Given the description of an element on the screen output the (x, y) to click on. 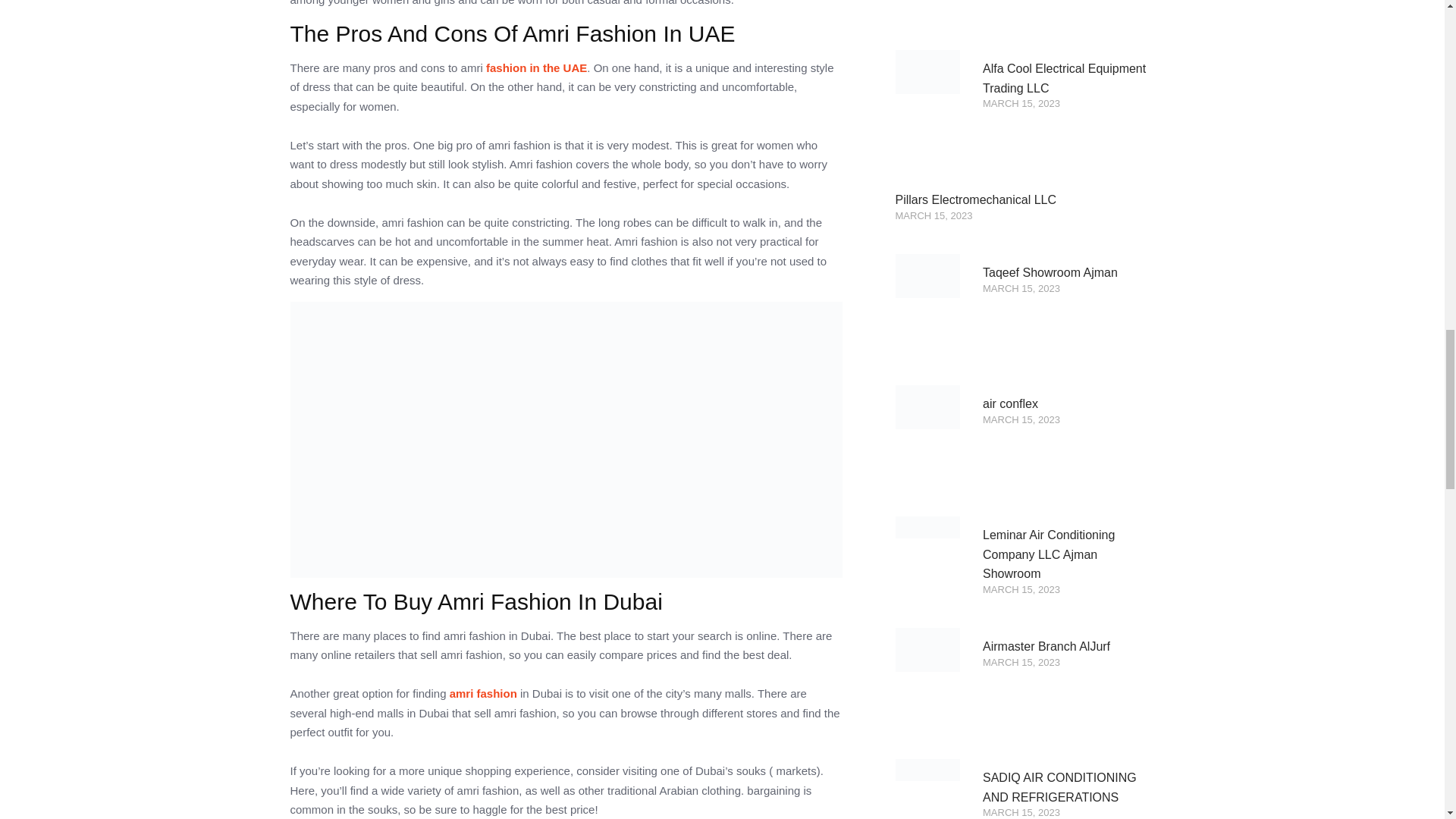
amri fashion (482, 693)
Pillars Electromechanical LLC (976, 199)
fashion in the UAE (536, 66)
Alfa Cool Electrical Equipment Trading LLC (1063, 78)
Taqeef Showroom Ajman (1050, 272)
